Given the description of an element on the screen output the (x, y) to click on. 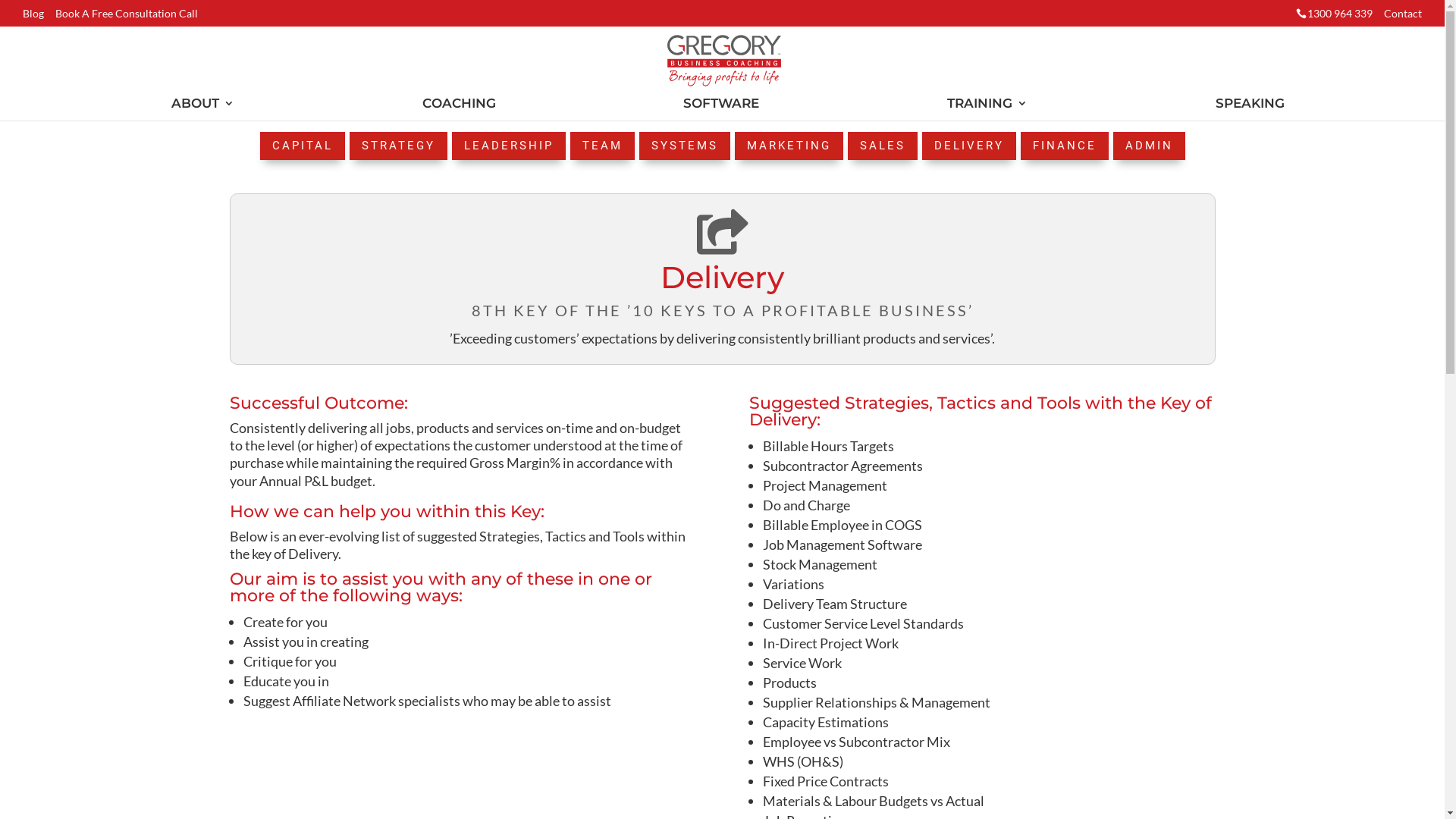
SOFTWARE Element type: text (721, 108)
DELIVERY Element type: text (969, 145)
LEADERSHIP Element type: text (508, 145)
1300 964 339 Element type: text (1339, 16)
ABOUT Element type: text (202, 108)
TRAINING Element type: text (987, 108)
STRATEGY Element type: text (397, 145)
Blog Element type: text (32, 16)
Book A Free Consultation Call Element type: text (126, 16)
Contact Element type: text (1402, 16)
FINANCE Element type: text (1064, 145)
COACHING Element type: text (458, 108)
MARKETING Element type: text (788, 145)
SPEAKING Element type: text (1249, 108)
ADMIN Element type: text (1149, 145)
SALES Element type: text (882, 145)
TEAM Element type: text (602, 145)
SYSTEMS Element type: text (683, 145)
CAPITAL Element type: text (301, 145)
